Given the description of an element on the screen output the (x, y) to click on. 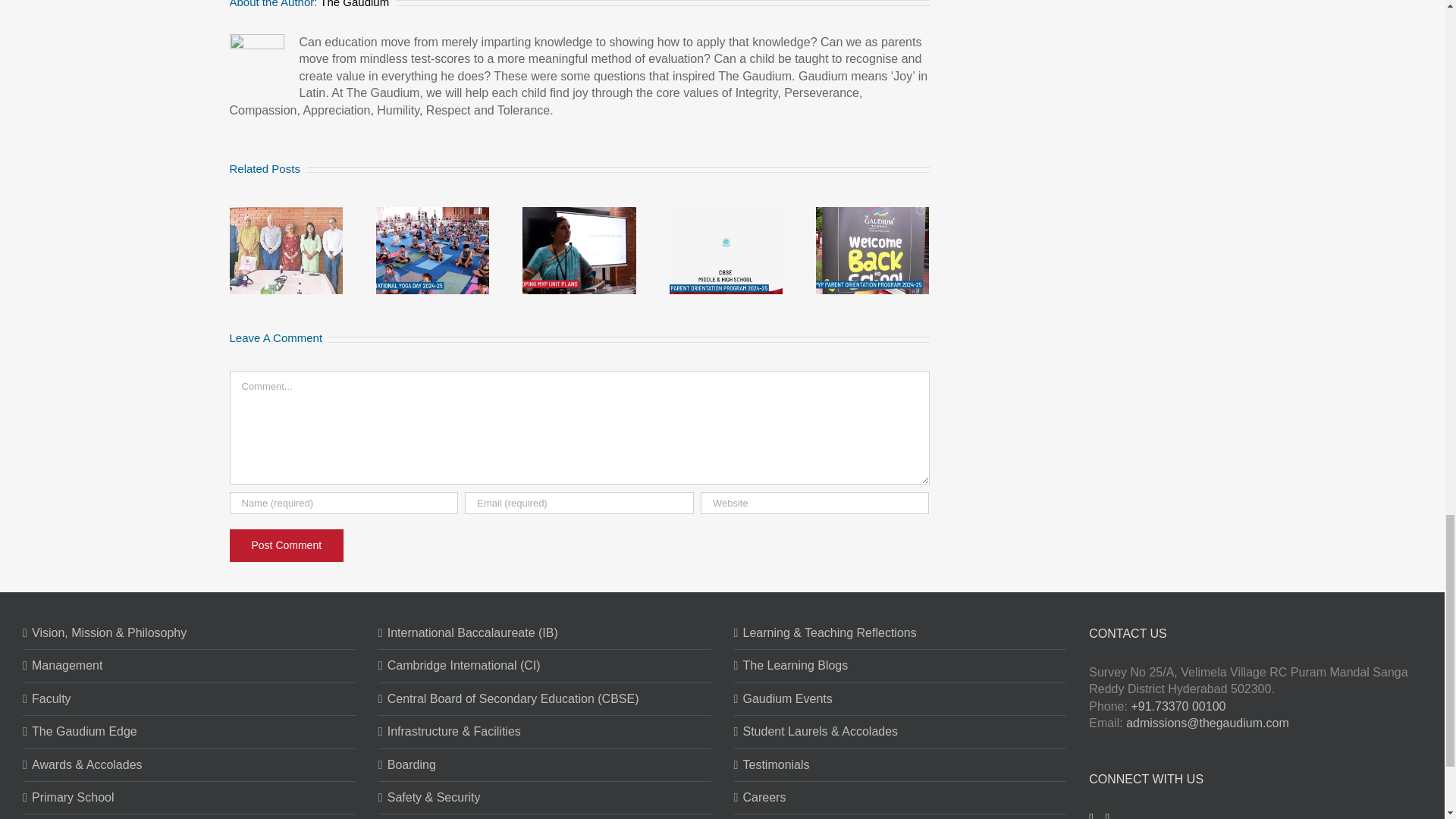
Posts by The Gaudium (354, 4)
Post Comment (285, 545)
